Given the description of an element on the screen output the (x, y) to click on. 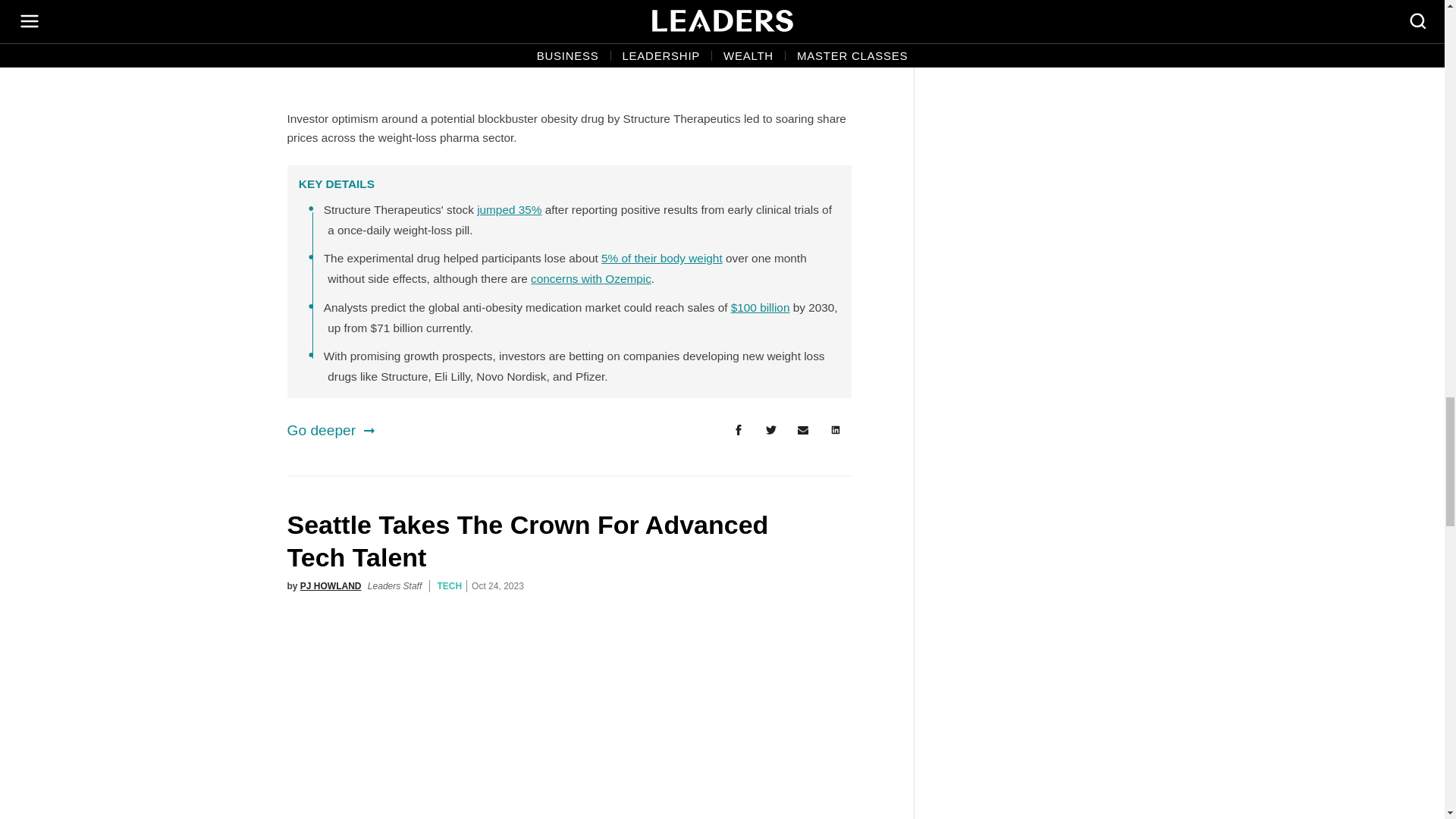
Share on Facebook (738, 430)
Share via Email (803, 430)
Share on LinkedIn (835, 430)
Share on Twitter (770, 430)
